Given the description of an element on the screen output the (x, y) to click on. 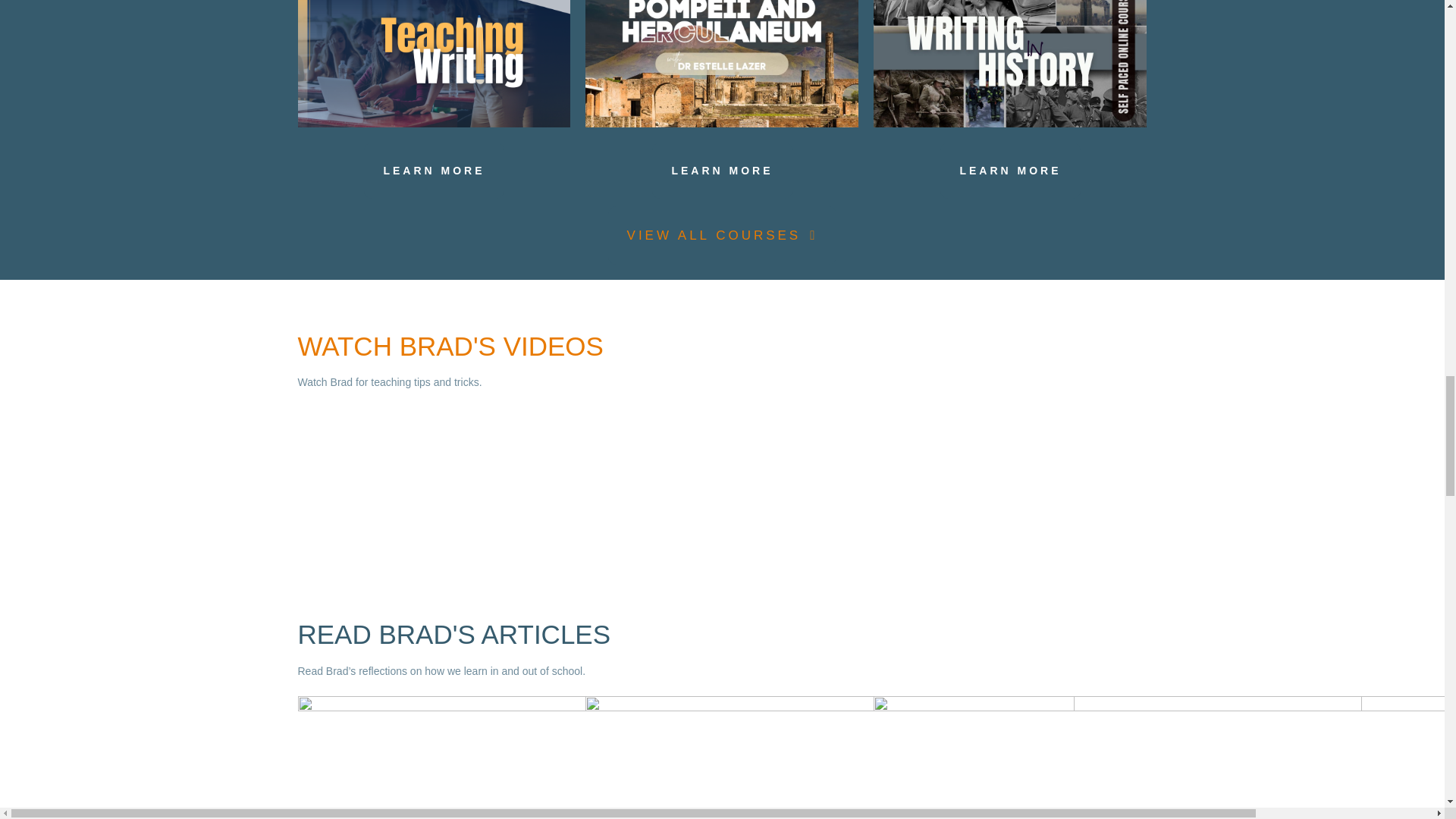
LEARN MORE (433, 170)
VIEW ALL COURSES (722, 235)
LEARN MORE (1010, 170)
LEARN MORE (722, 170)
